Given the description of an element on the screen output the (x, y) to click on. 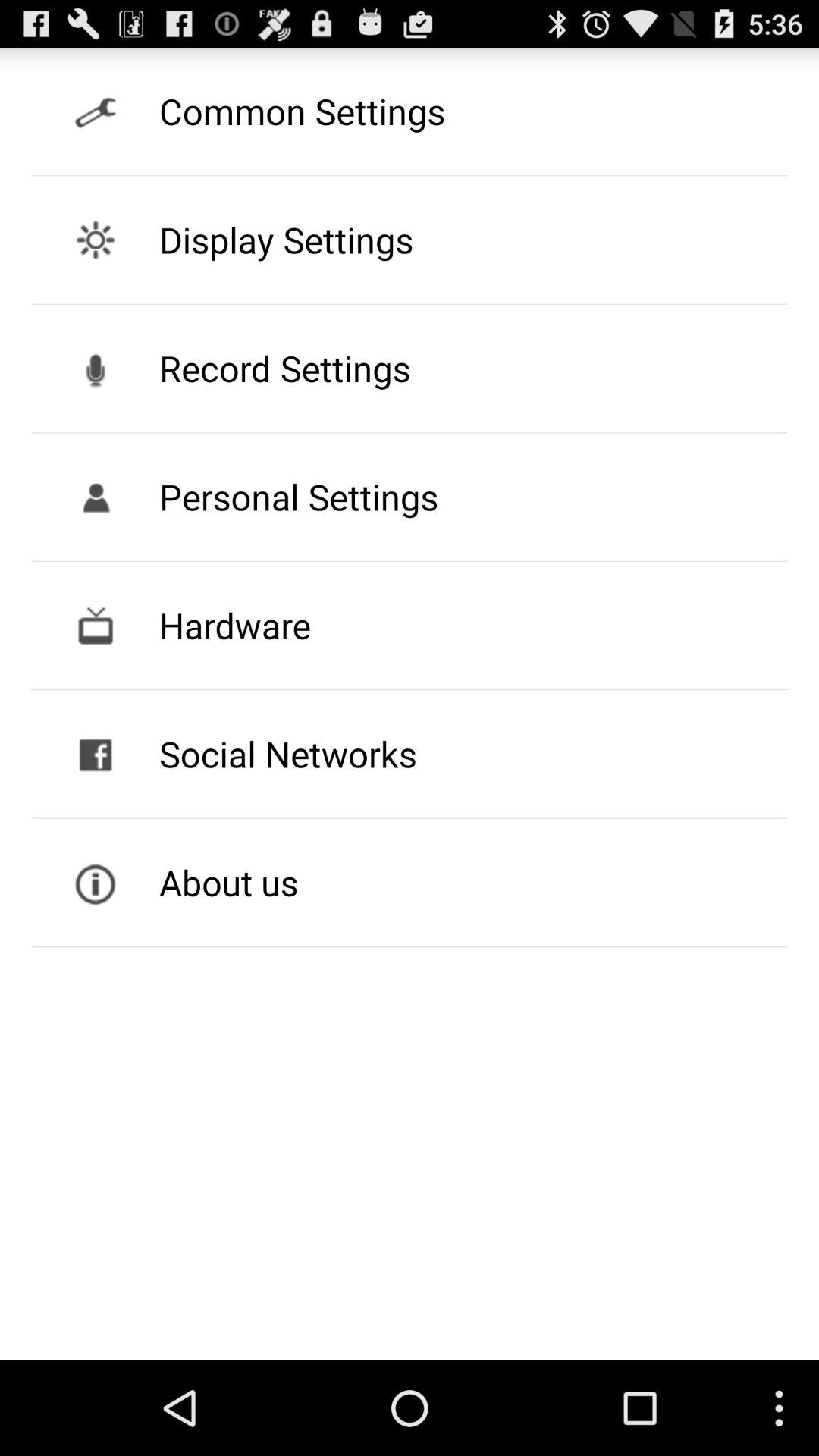
click on the icon beside hardware (95, 626)
click on the button beside about us (95, 882)
click on the record button beside record settings (95, 368)
select the icon on left to the button personal settings on the web page (95, 496)
